Given the description of an element on the screen output the (x, y) to click on. 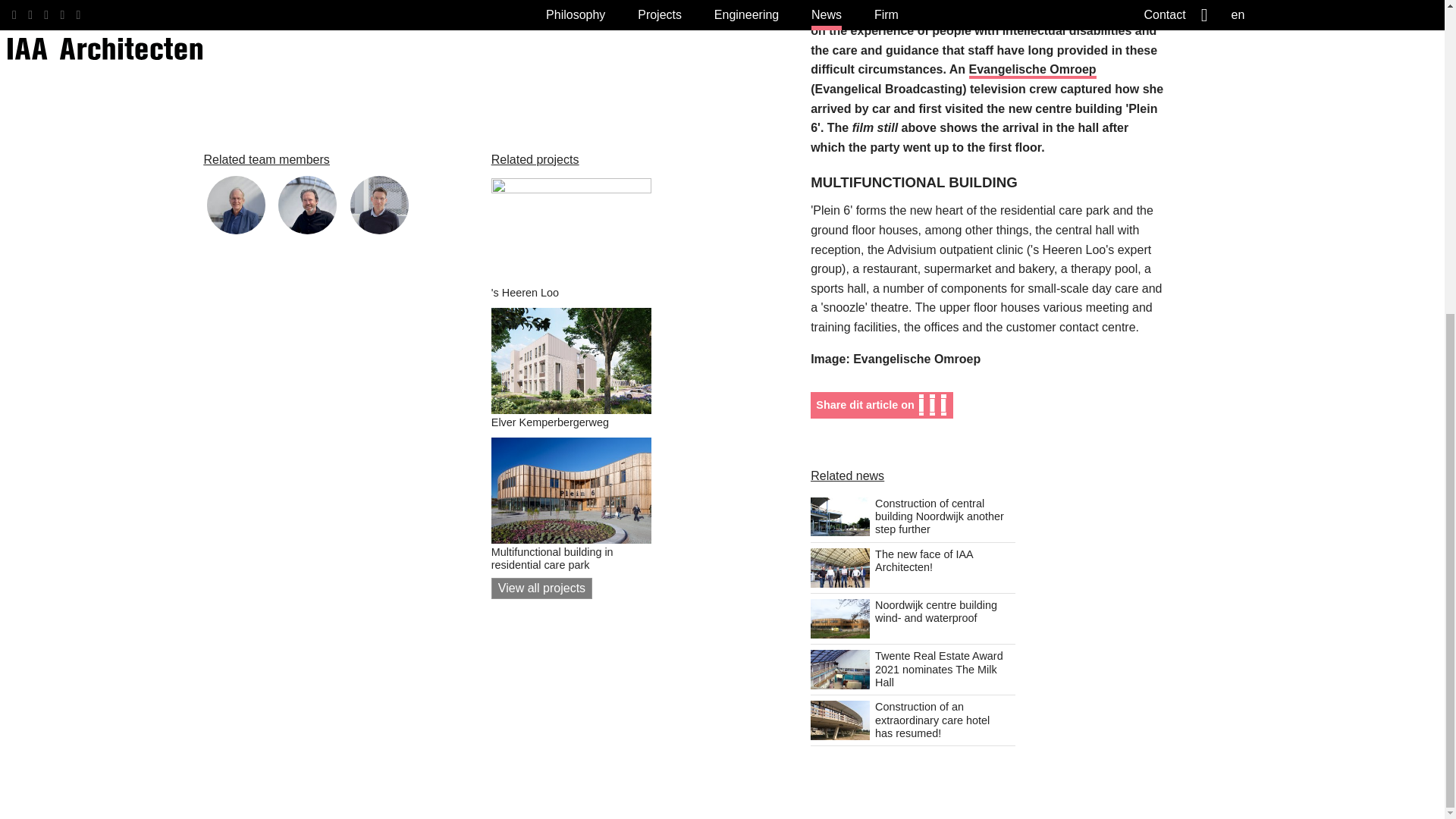
The new face of IAA Architecten! (912, 567)
Multifunctional building in residential care park (571, 35)
Twente Real Estate Award 2021 nominates The Milk Hall (912, 669)
Related news (846, 475)
Evangelische Omroep (1032, 70)
Noordwijk centre building wind- and waterproof (912, 618)
View all projects (542, 86)
Website Blauw Bloed (1032, 70)
Construction of an extraordinary care hotel has resumed! (912, 720)
